Given the description of an element on the screen output the (x, y) to click on. 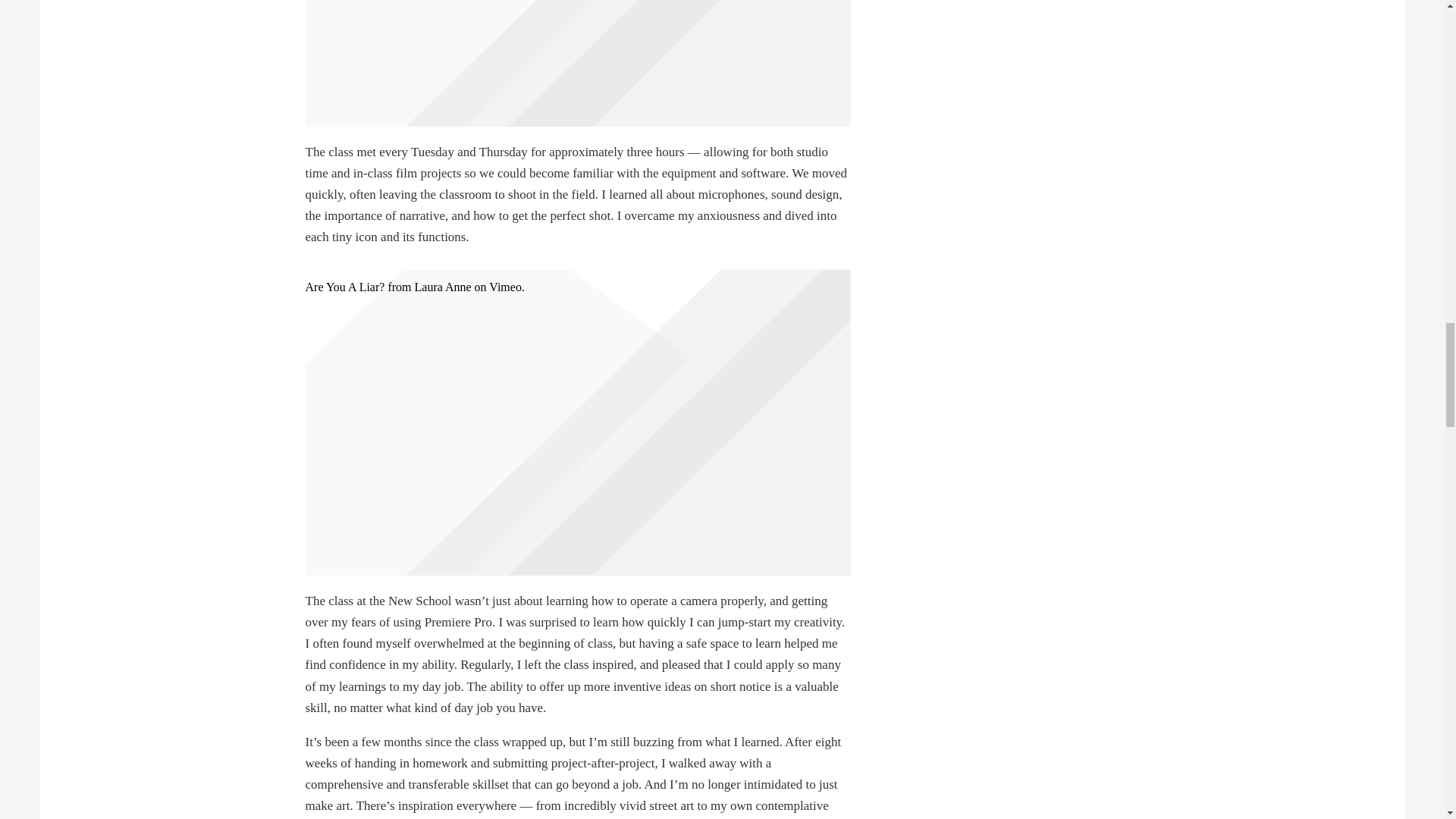
Are You A Liar? (344, 286)
Laura Anne (441, 286)
Vimeo (505, 286)
